Given the description of an element on the screen output the (x, y) to click on. 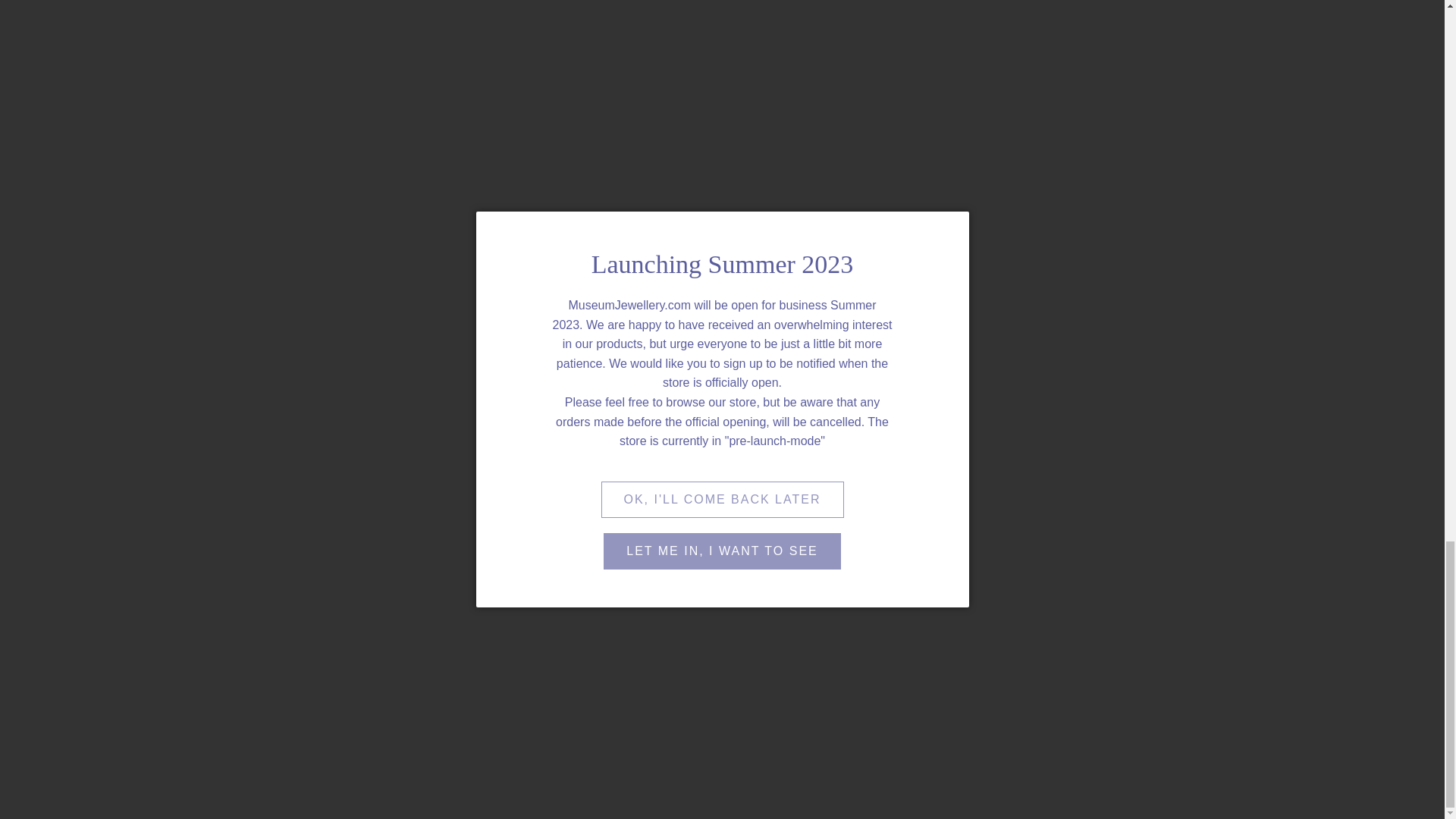
PayPal (1262, 761)
Venmo (1308, 761)
